Given the description of an element on the screen output the (x, y) to click on. 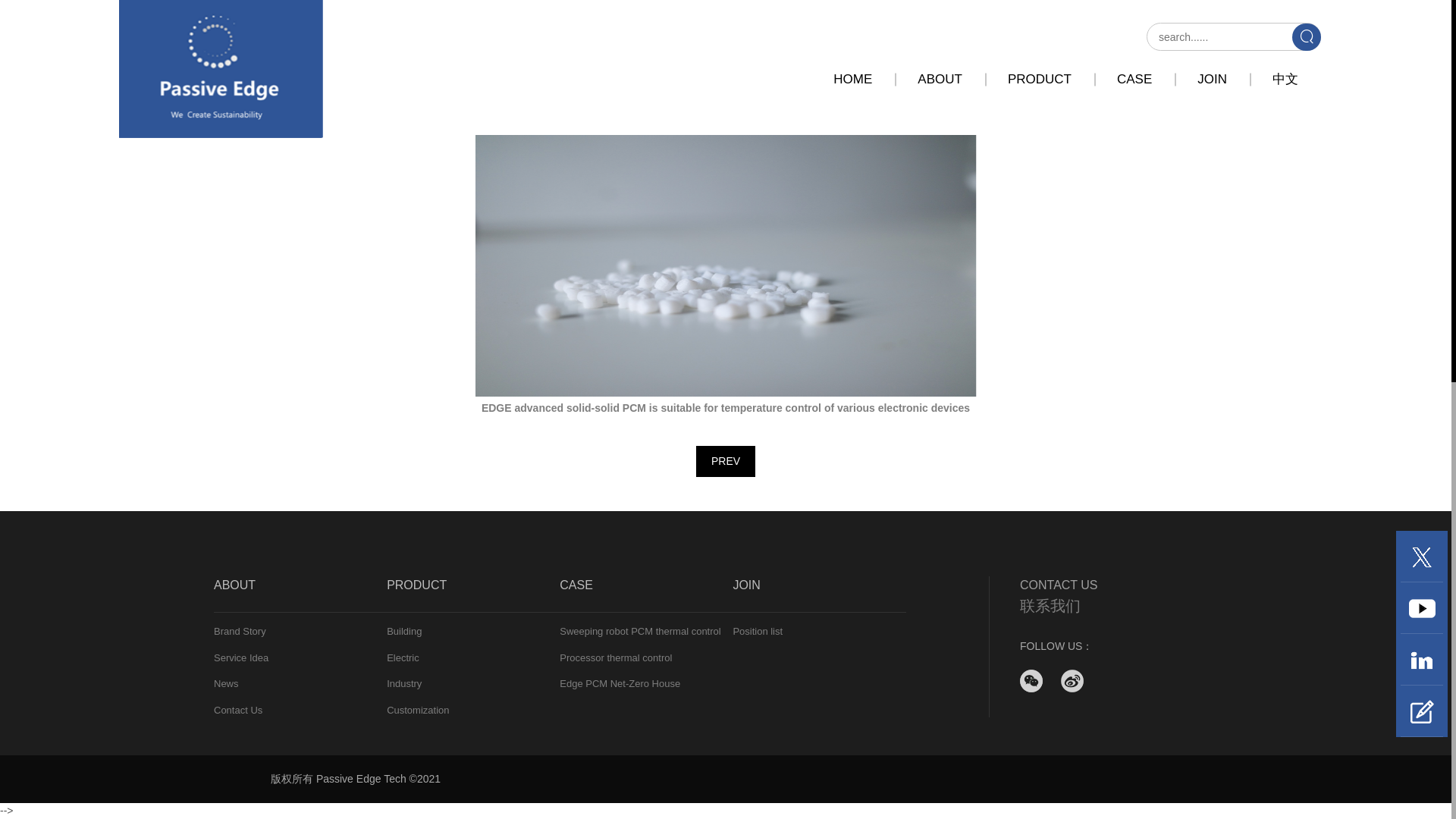
Building (473, 631)
Brand Story (300, 631)
image.png (724, 265)
Contact Us (300, 710)
constant temperature (882, 69)
ABOUT (300, 594)
Customization (473, 710)
PREV (725, 460)
PRODUCT (473, 594)
Electric (473, 657)
